Given the description of an element on the screen output the (x, y) to click on. 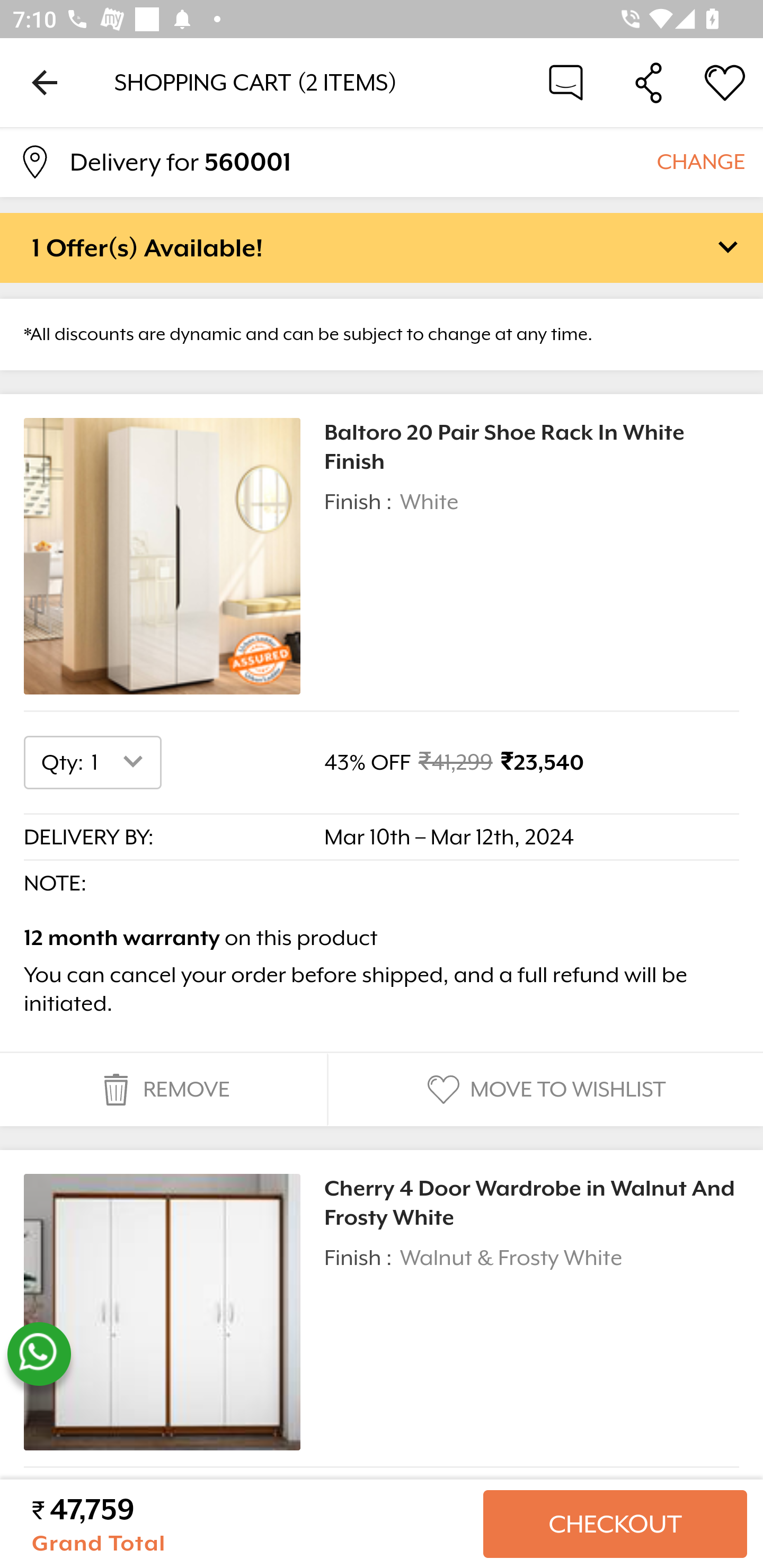
Navigate up (44, 82)
Chat (565, 81)
Share Cart (648, 81)
Wishlist (724, 81)
CHANGE (700, 161)
1 Offer(s) Available! (381, 247)
1 (121, 761)
REMOVE (163, 1089)
MOVE TO WISHLIST (544, 1089)
whatsapp (38, 1353)
₹ 47,759 Grand Total (250, 1523)
CHECKOUT (614, 1523)
